Given the description of an element on the screen output the (x, y) to click on. 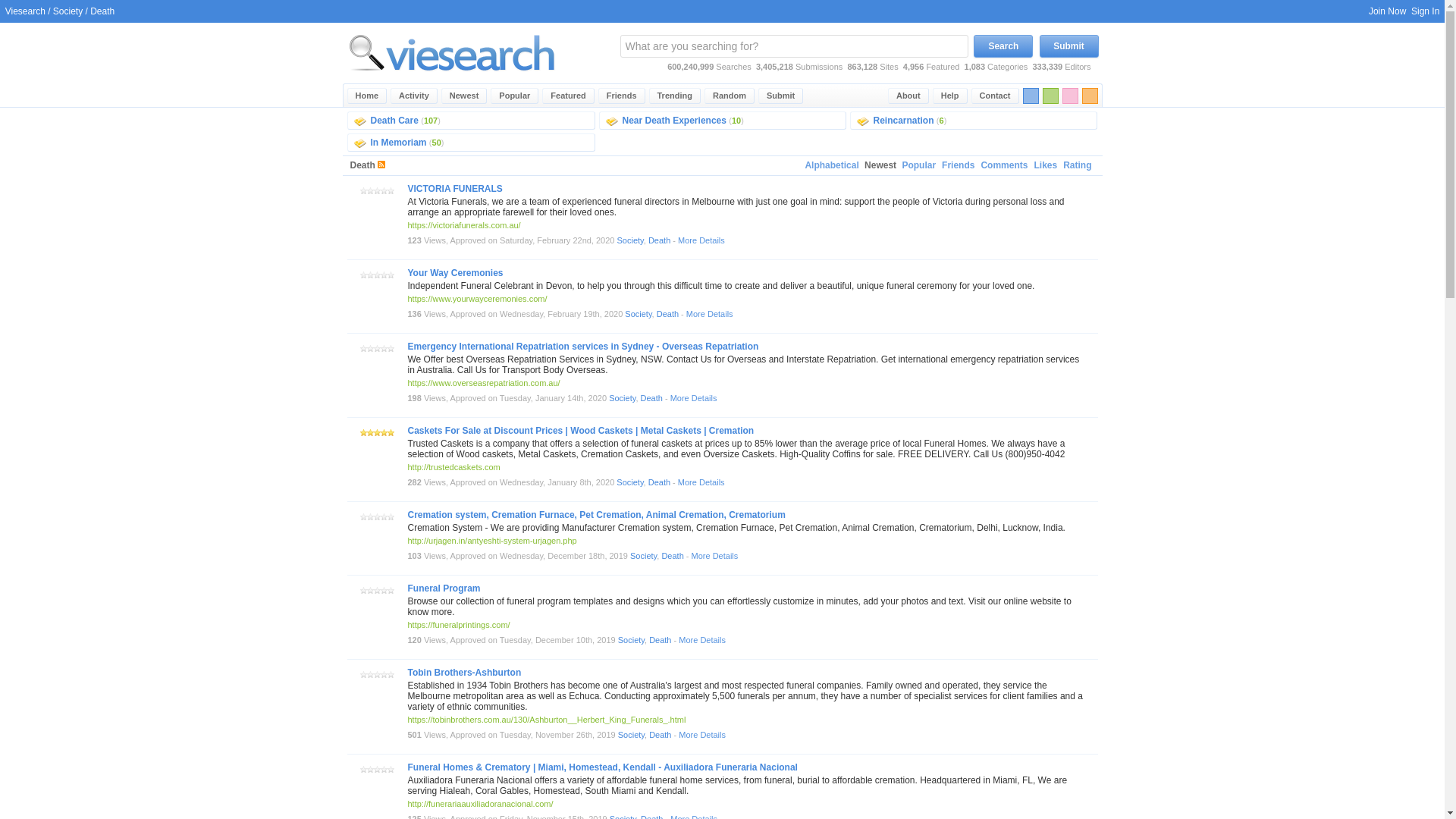
Join Now (1387, 10)
Activity (414, 95)
Sign In (1424, 10)
Trending (674, 95)
Switch this page to pink (1069, 95)
Death Care (393, 120)
Help (950, 95)
Trending search keywords on Viesearch (674, 95)
Reincarnation (903, 120)
Some of our Lastest Referrers (621, 95)
Popular (514, 95)
Contact (995, 95)
More Details (701, 239)
Popular (918, 165)
Submit a new site (780, 95)
